Given the description of an element on the screen output the (x, y) to click on. 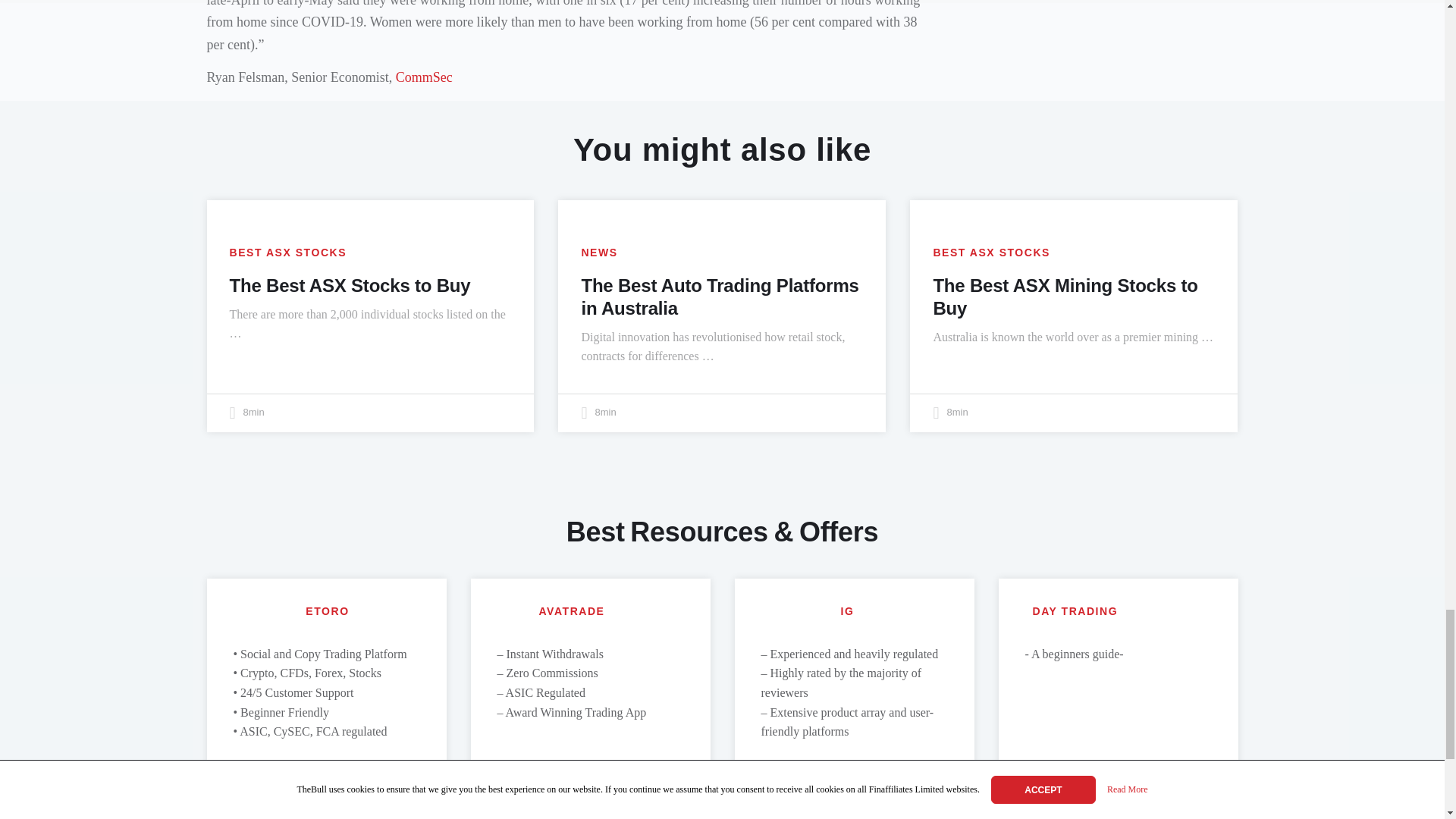
CommSec (424, 77)
NEWS (598, 252)
The Best ASX Stocks to Buy (349, 284)
BEST ASX STOCKS (287, 252)
The Best Auto Trading Platforms in Australia (719, 295)
